Given the description of an element on the screen output the (x, y) to click on. 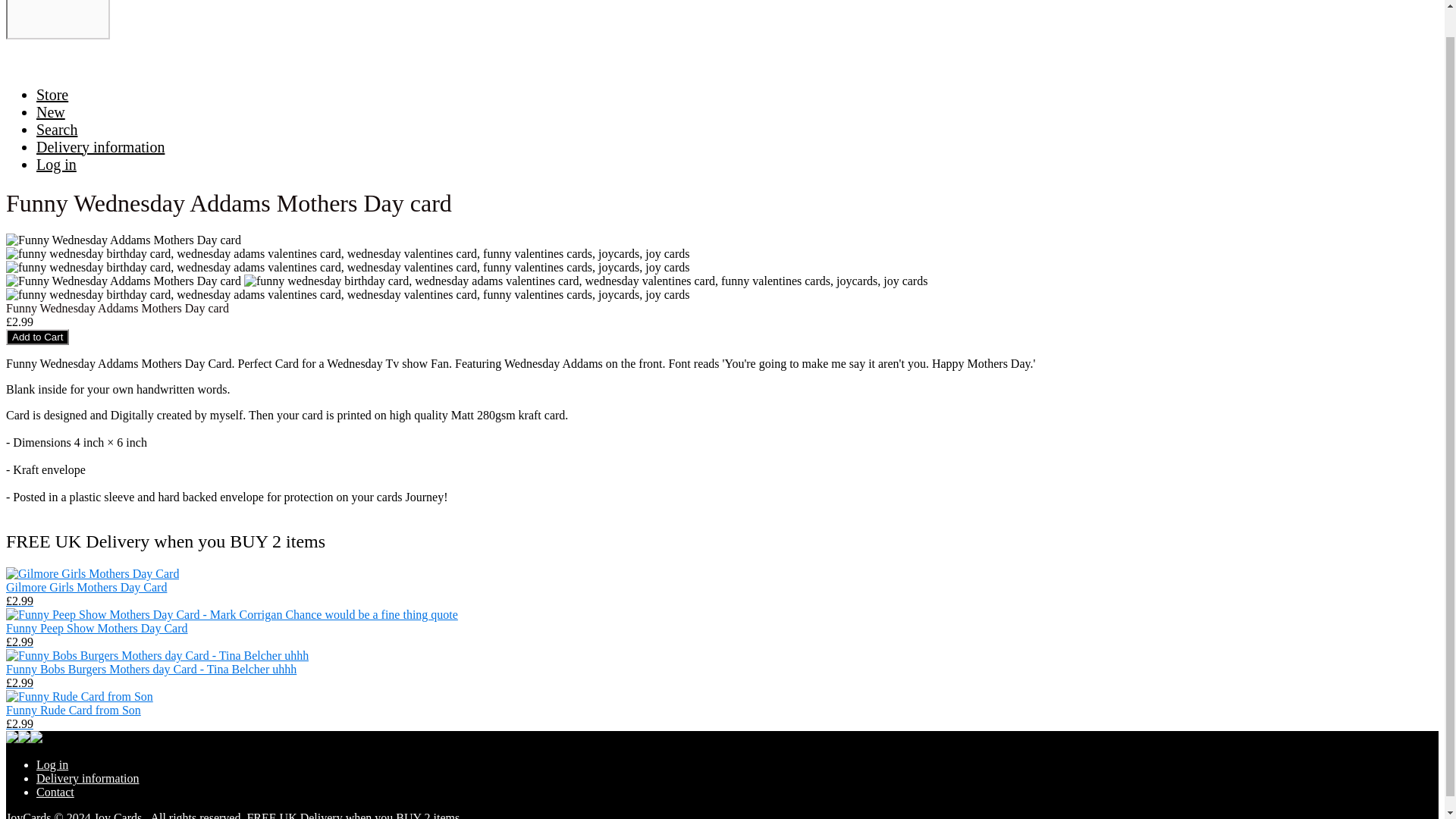
Log in (52, 764)
Contact (55, 791)
Add to Cart (36, 336)
Delivery information (87, 778)
Delivery information (100, 146)
New (50, 112)
Enter the terms you wish to search for. (57, 19)
Add to Cart (36, 336)
Store (52, 93)
Log in (56, 163)
